Given the description of an element on the screen output the (x, y) to click on. 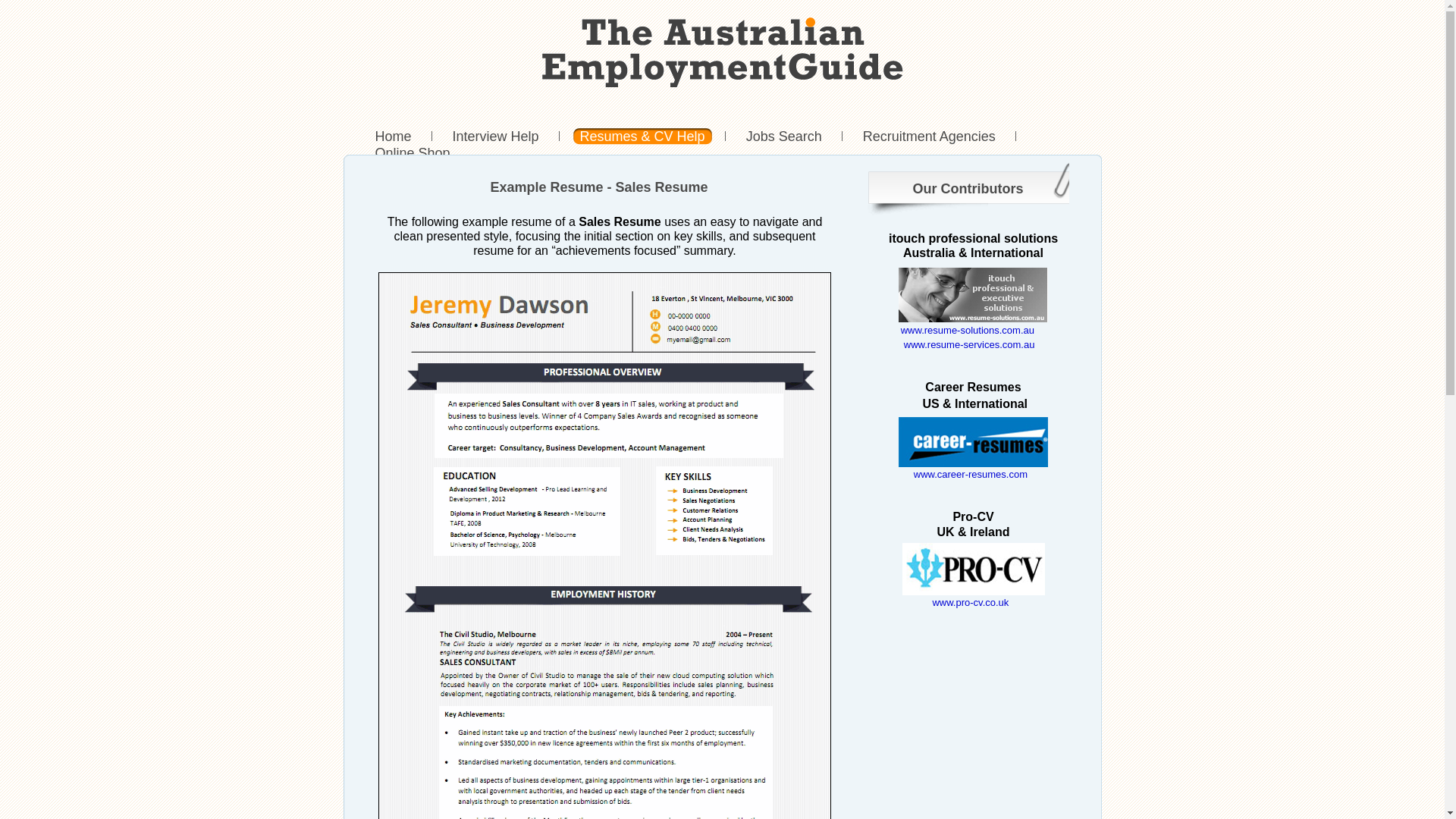
www.pro-cv.co.uk Element type: text (969, 601)
Jobs Search Element type: text (783, 136)
www.resume-services.com.au Element type: text (969, 343)
The Australian Employment Guide Element type: hover (721, 52)
www.career-resumes.com Element type: text (970, 473)
Recruitment Agencies Element type: text (929, 136)
Home Element type: text (393, 136)
www.resume-solutions.com.au Element type: text (967, 329)
Resumes & CV Help Element type: text (642, 136)
Interview Help Element type: text (495, 136)
Online Shop Element type: text (412, 152)
